Given the description of an element on the screen output the (x, y) to click on. 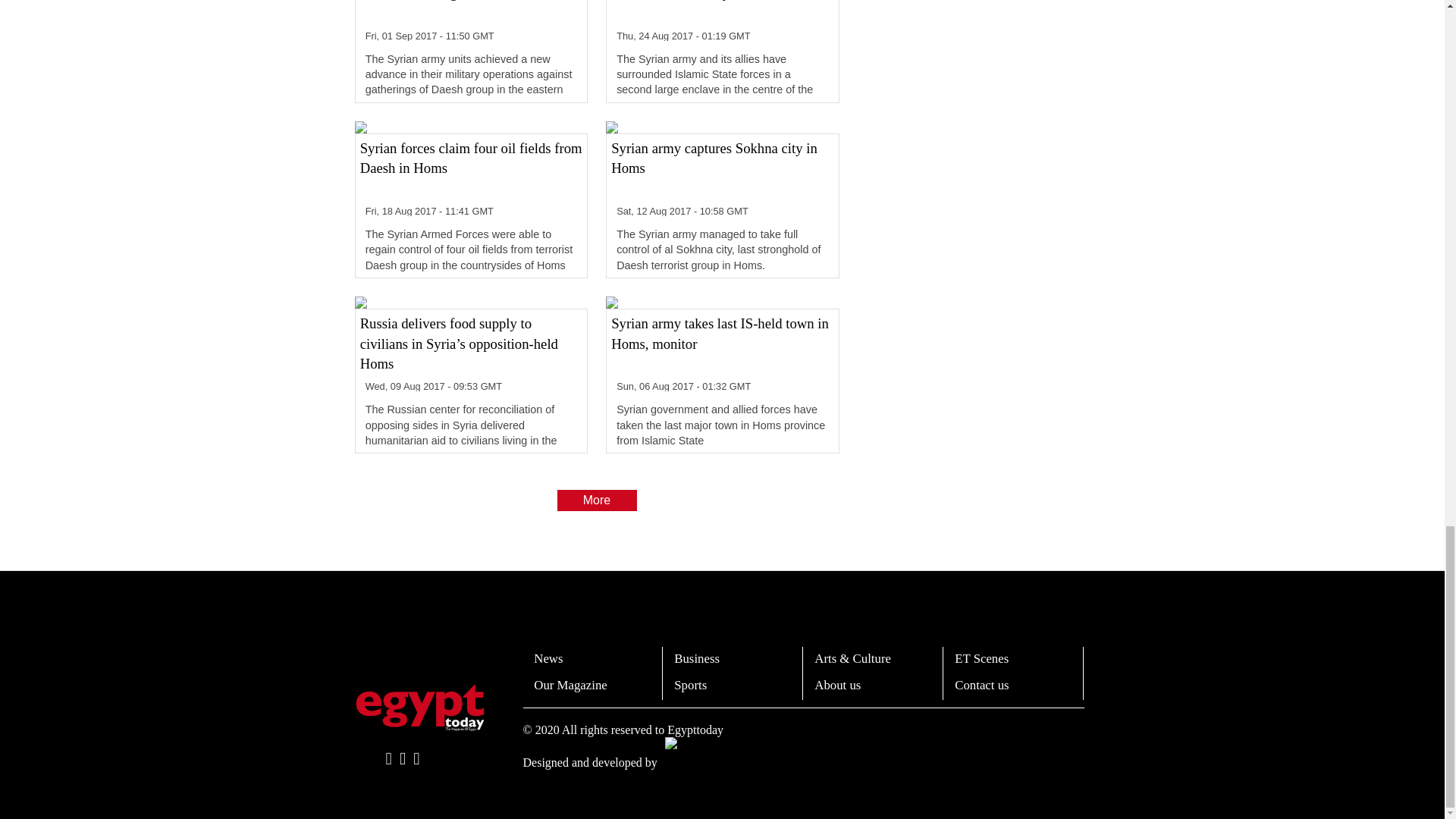
EgyptToday (419, 707)
